Given the description of an element on the screen output the (x, y) to click on. 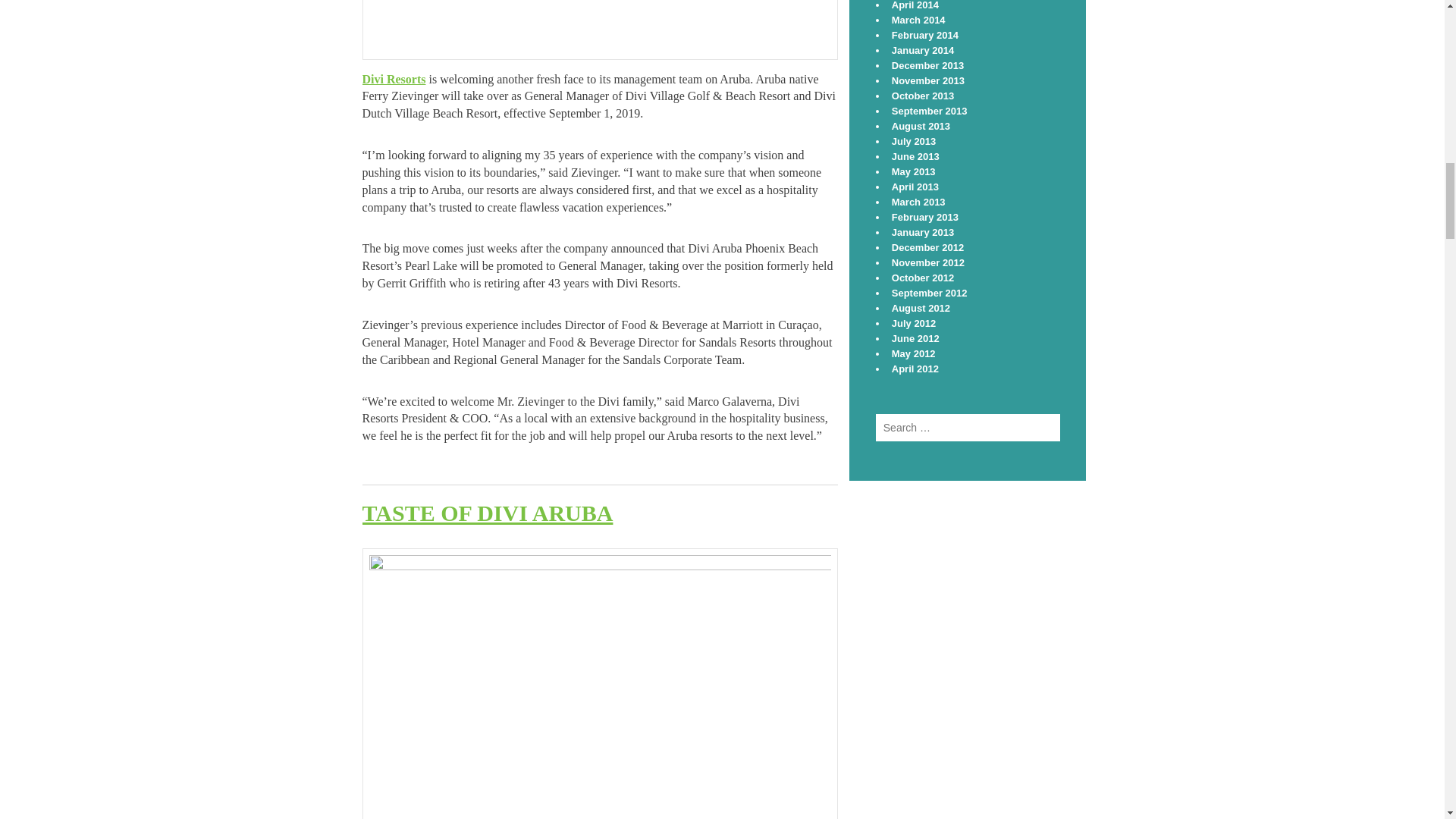
Search (1026, 427)
Search (1026, 427)
